Given the description of an element on the screen output the (x, y) to click on. 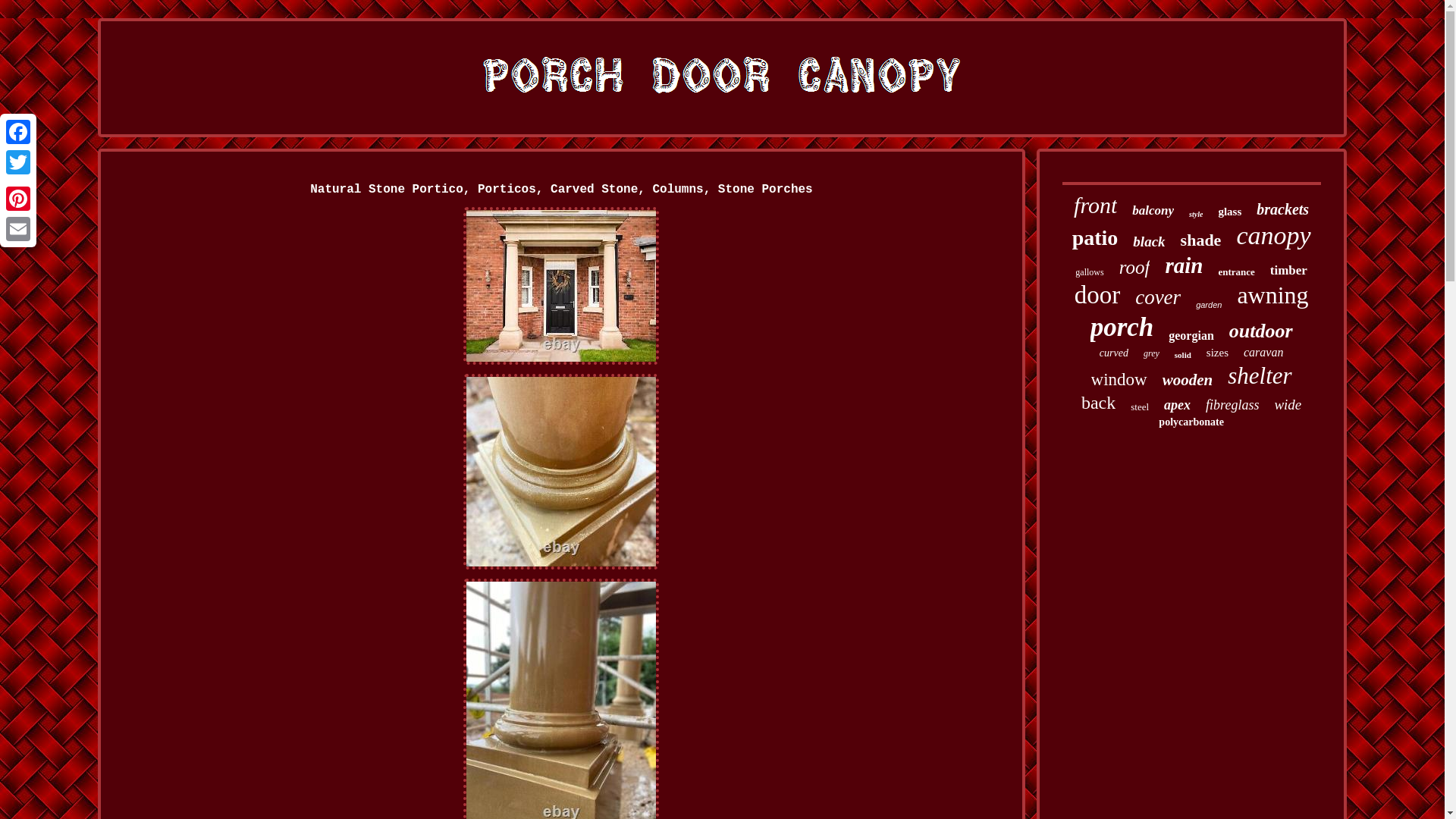
awning (1271, 295)
rain (1183, 265)
georgian (1191, 336)
sizes (1217, 352)
gallows (1089, 272)
grey (1150, 353)
curved (1113, 353)
solid (1182, 354)
roof (1134, 267)
Twitter (17, 162)
